Given the description of an element on the screen output the (x, y) to click on. 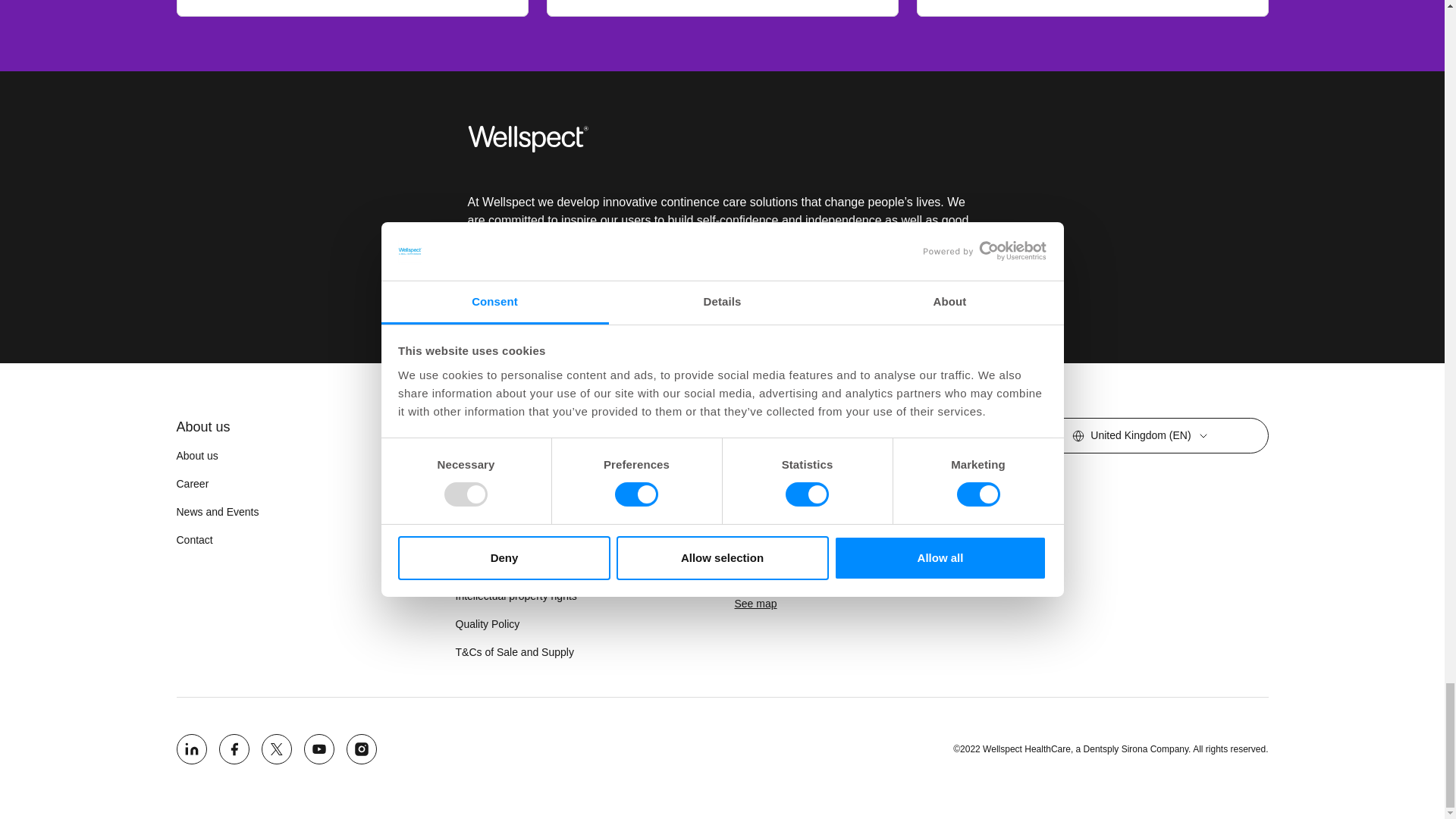
See map (754, 603)
